Given the description of an element on the screen output the (x, y) to click on. 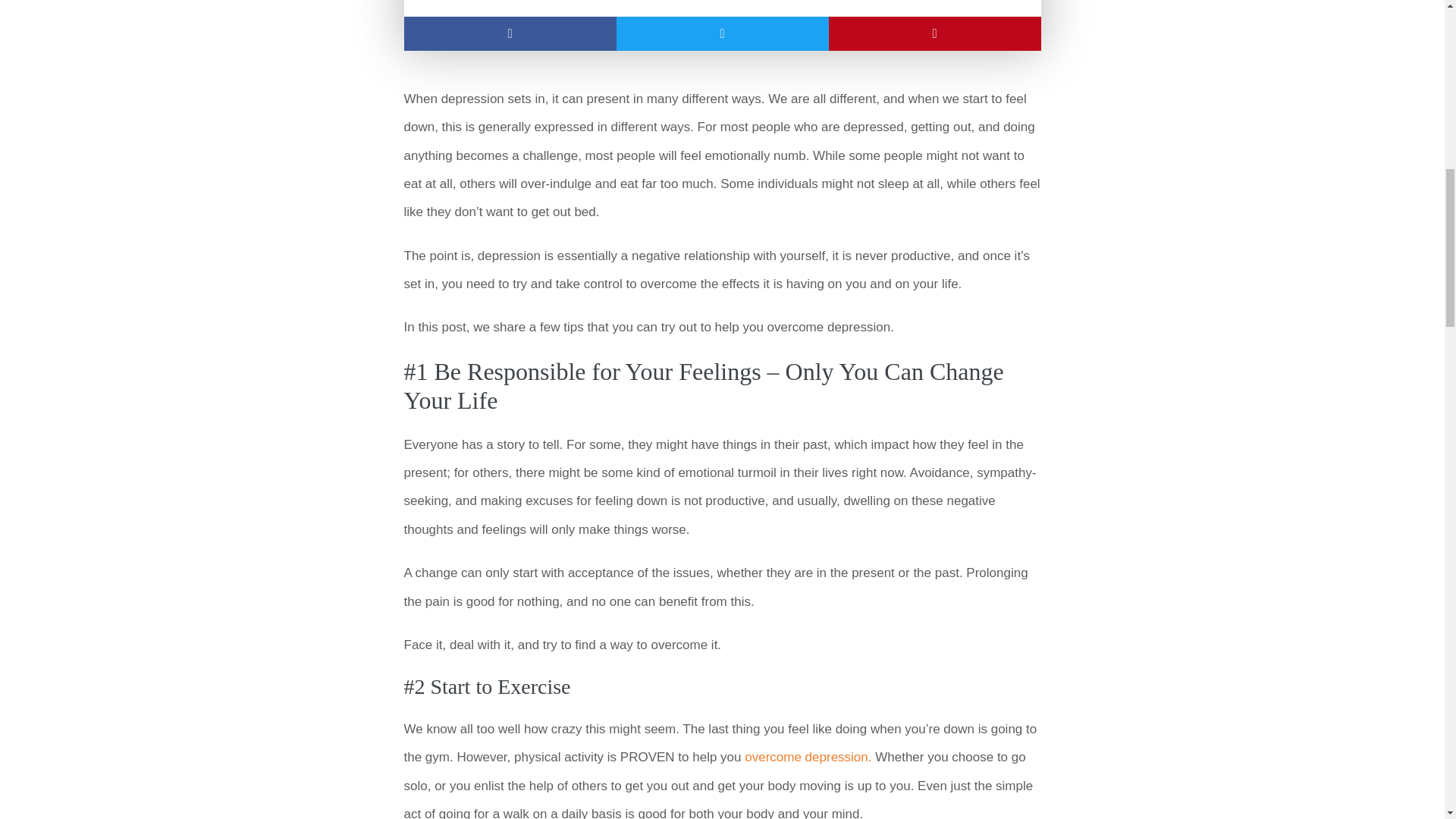
dealing with depression (722, 8)
